Given the description of an element on the screen output the (x, y) to click on. 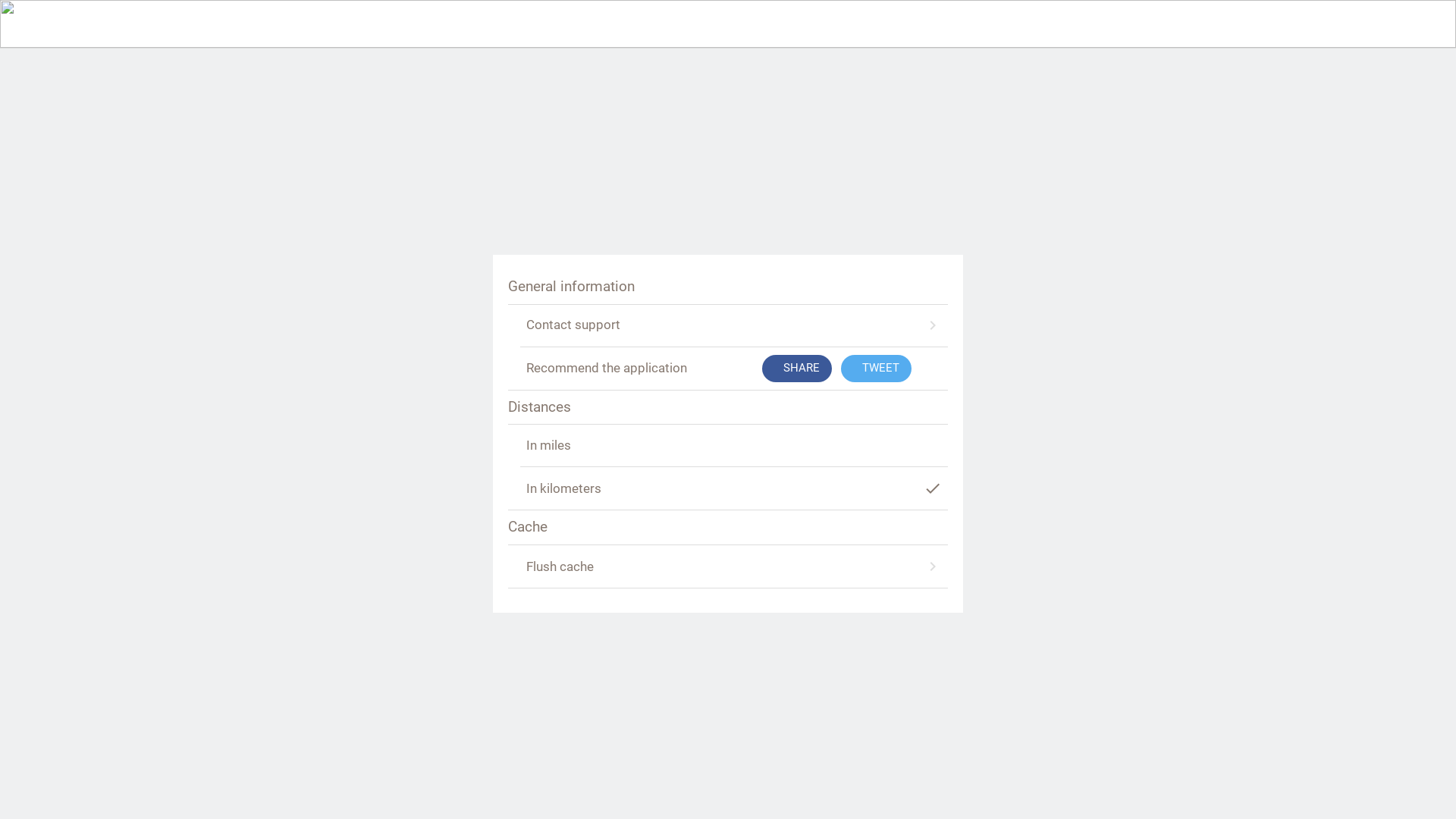
Flush cache
chevron_right Element type: text (733, 567)
SHARE Element type: text (796, 368)
Contact support
chevron_right Element type: text (733, 325)
TWEET Element type: text (875, 368)
In miles Element type: text (733, 445)
In kilometers
done Element type: text (733, 488)
